Given the description of an element on the screen output the (x, y) to click on. 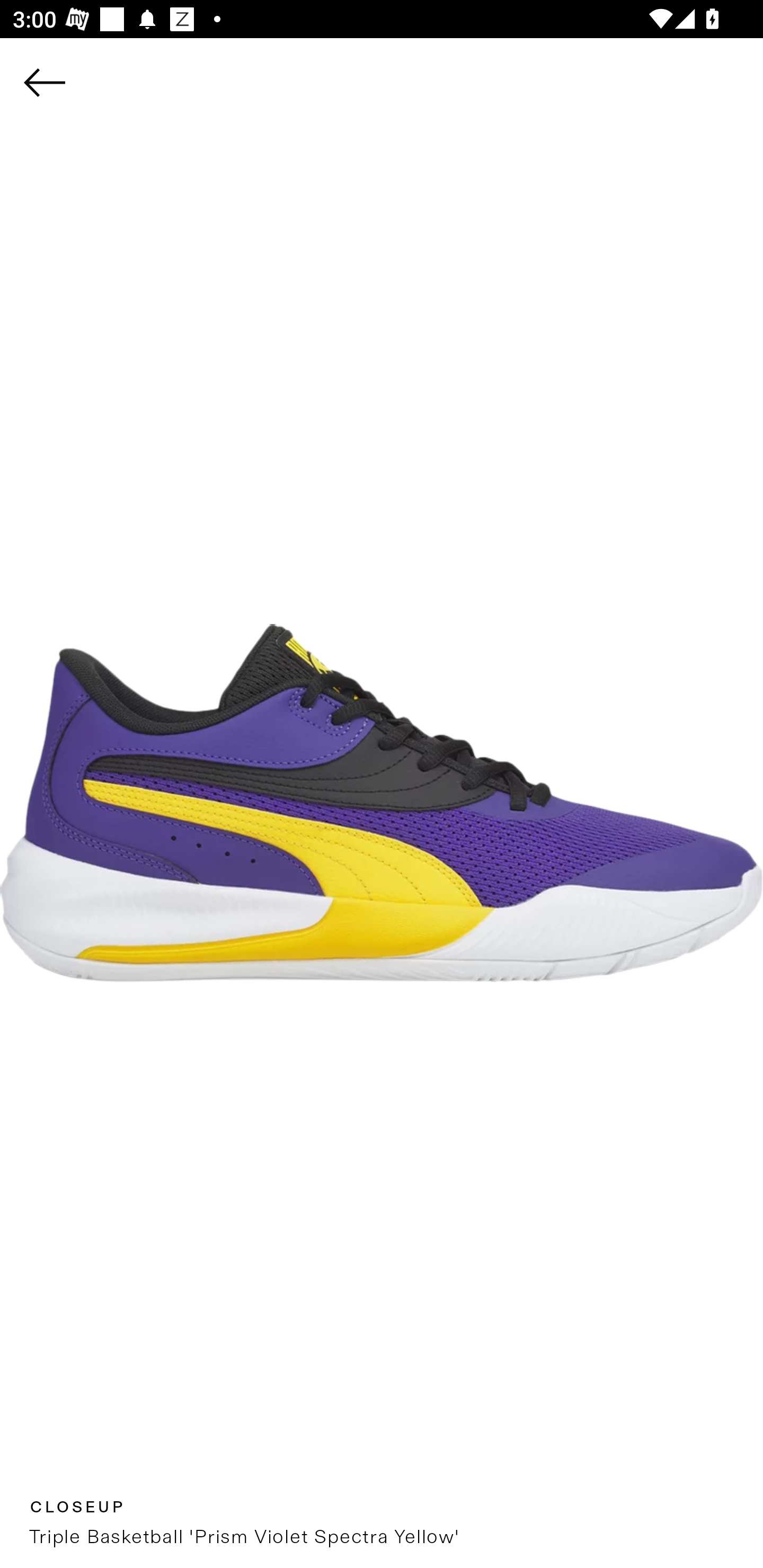
Navigate up (44, 82)
